Given the description of an element on the screen output the (x, y) to click on. 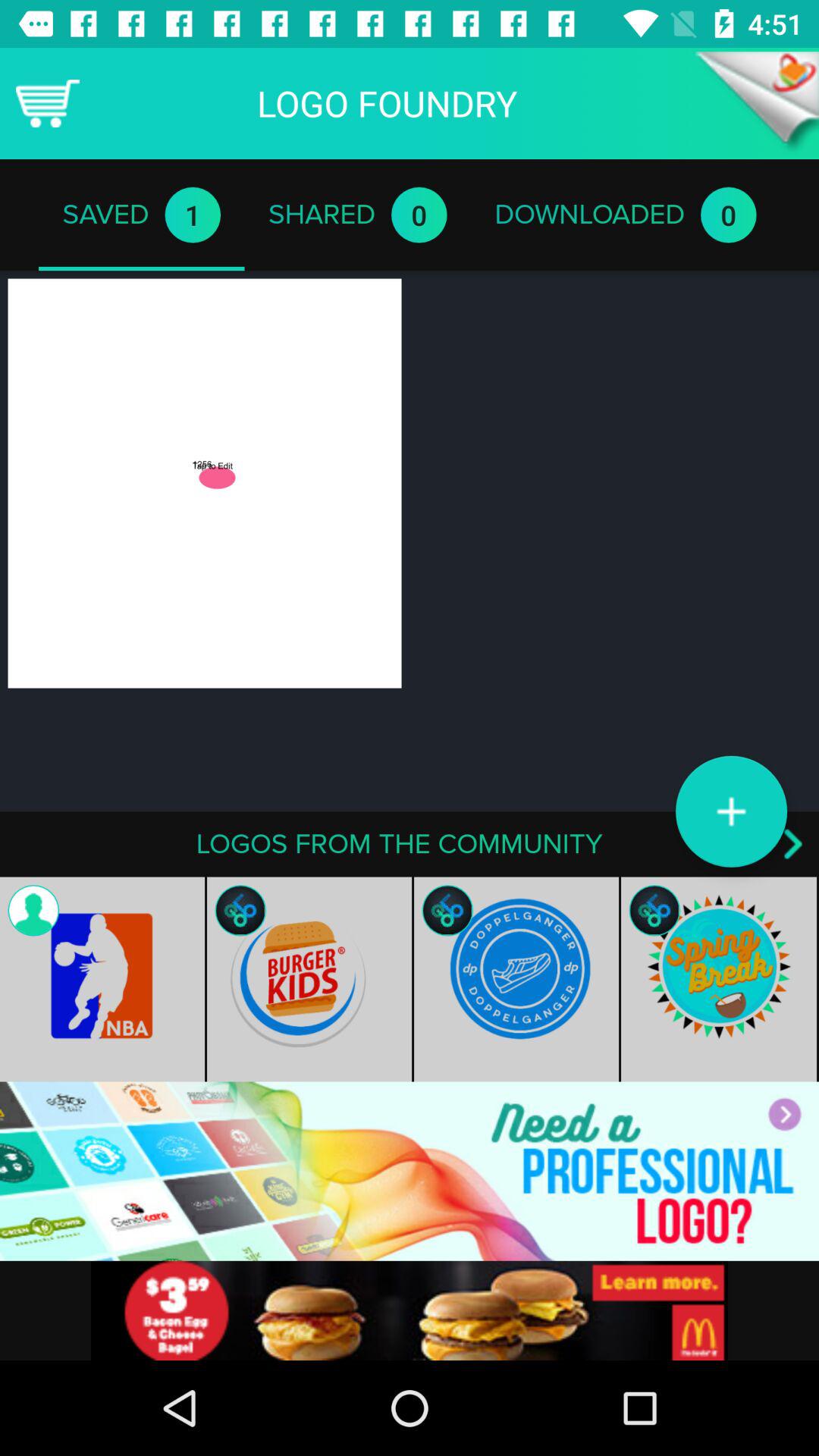
log in (409, 1170)
